Given the description of an element on the screen output the (x, y) to click on. 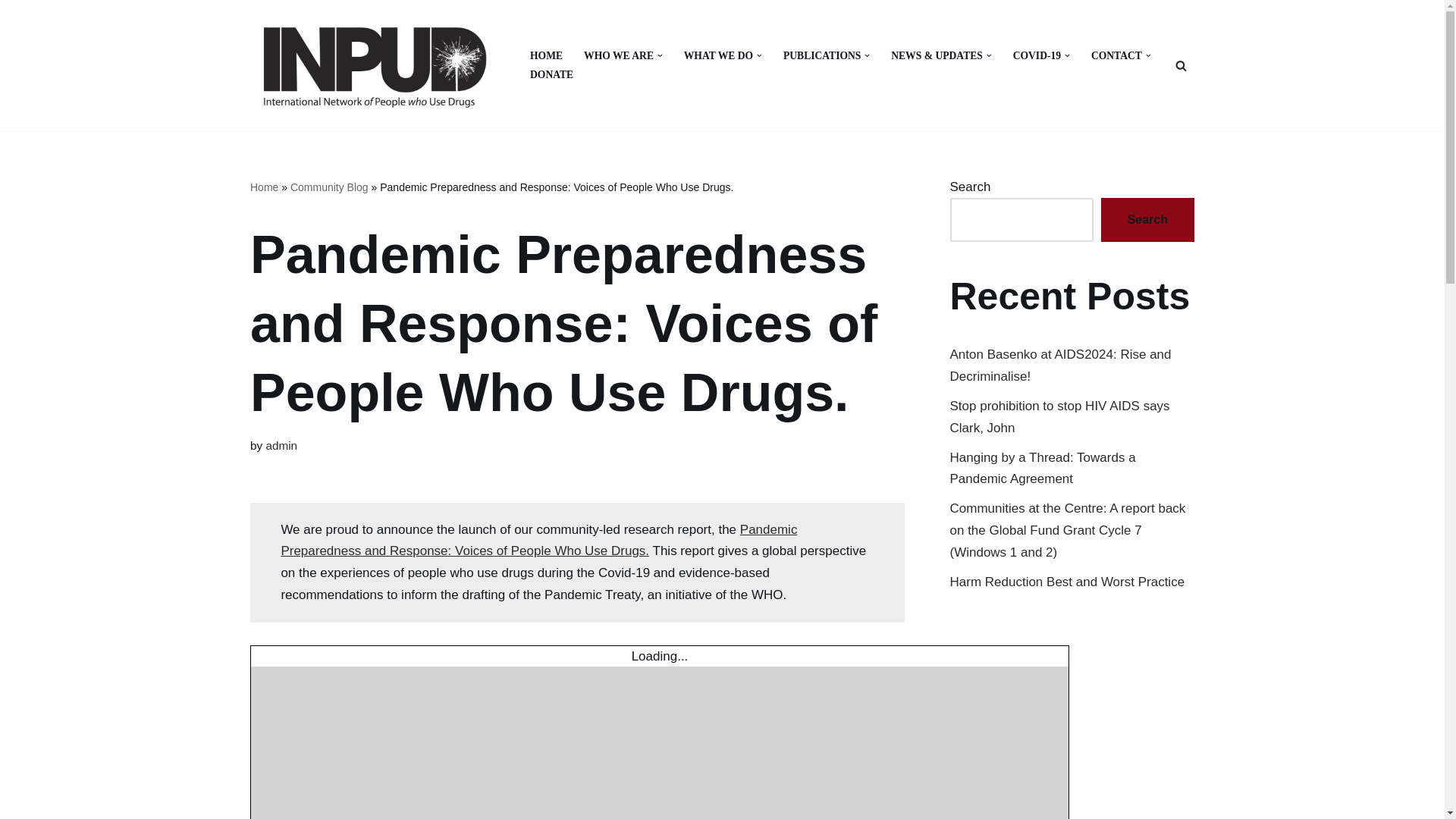
DONATE (551, 74)
COVID-19 (1037, 55)
WHO WE ARE (618, 55)
CONTACT (1115, 55)
Posts by admin (280, 445)
PUBLICATIONS (821, 55)
HOME (545, 55)
Skip to content (11, 31)
WHAT WE DO (718, 55)
